Given the description of an element on the screen output the (x, y) to click on. 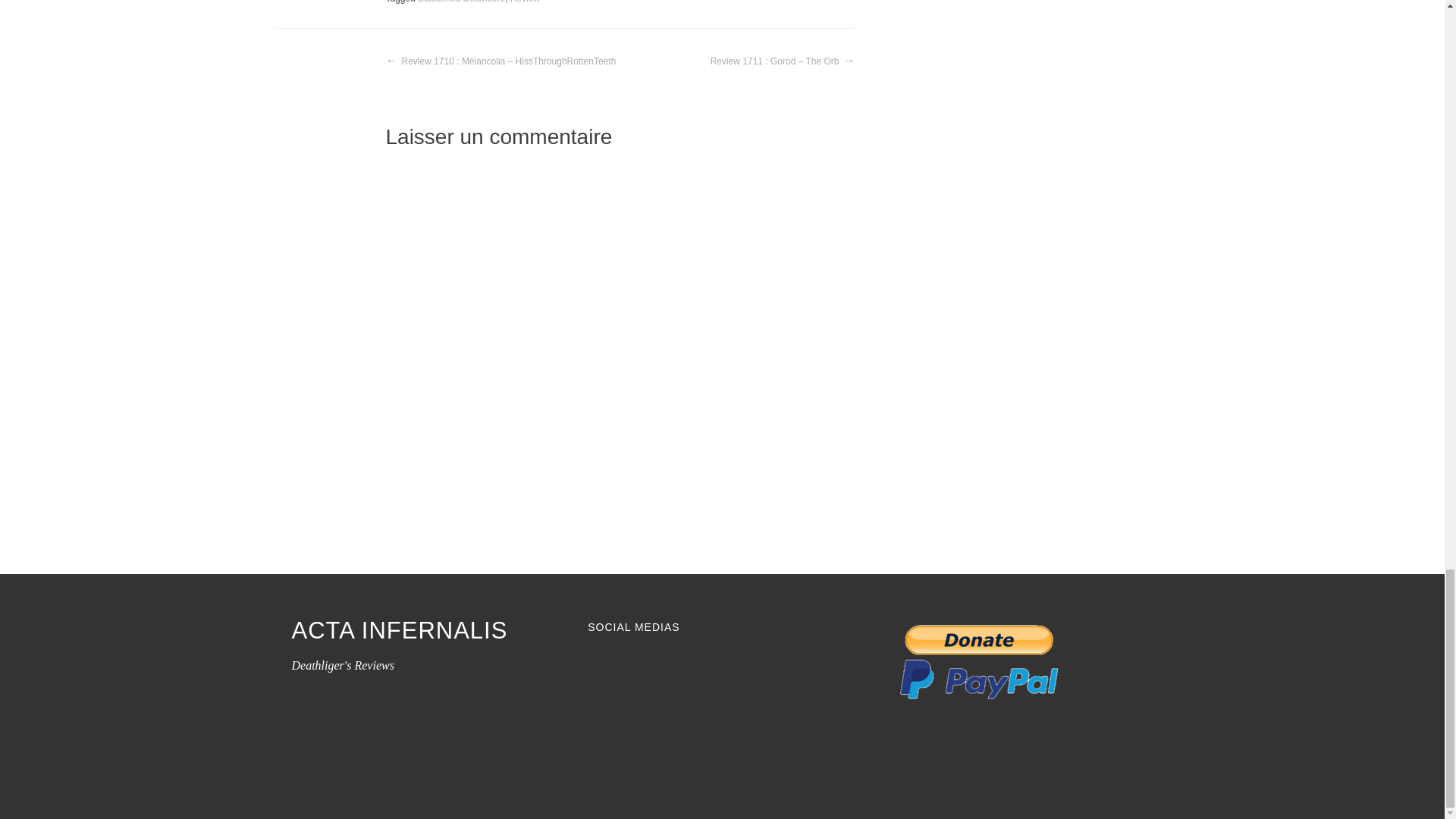
ACTA INFERNALIS (398, 630)
Acta Infernalis (398, 630)
TikTok (681, 671)
Twitter (654, 671)
Review (525, 2)
Blackened Deathcore (461, 2)
Instagram (626, 671)
Facebook (599, 671)
